Given the description of an element on the screen output the (x, y) to click on. 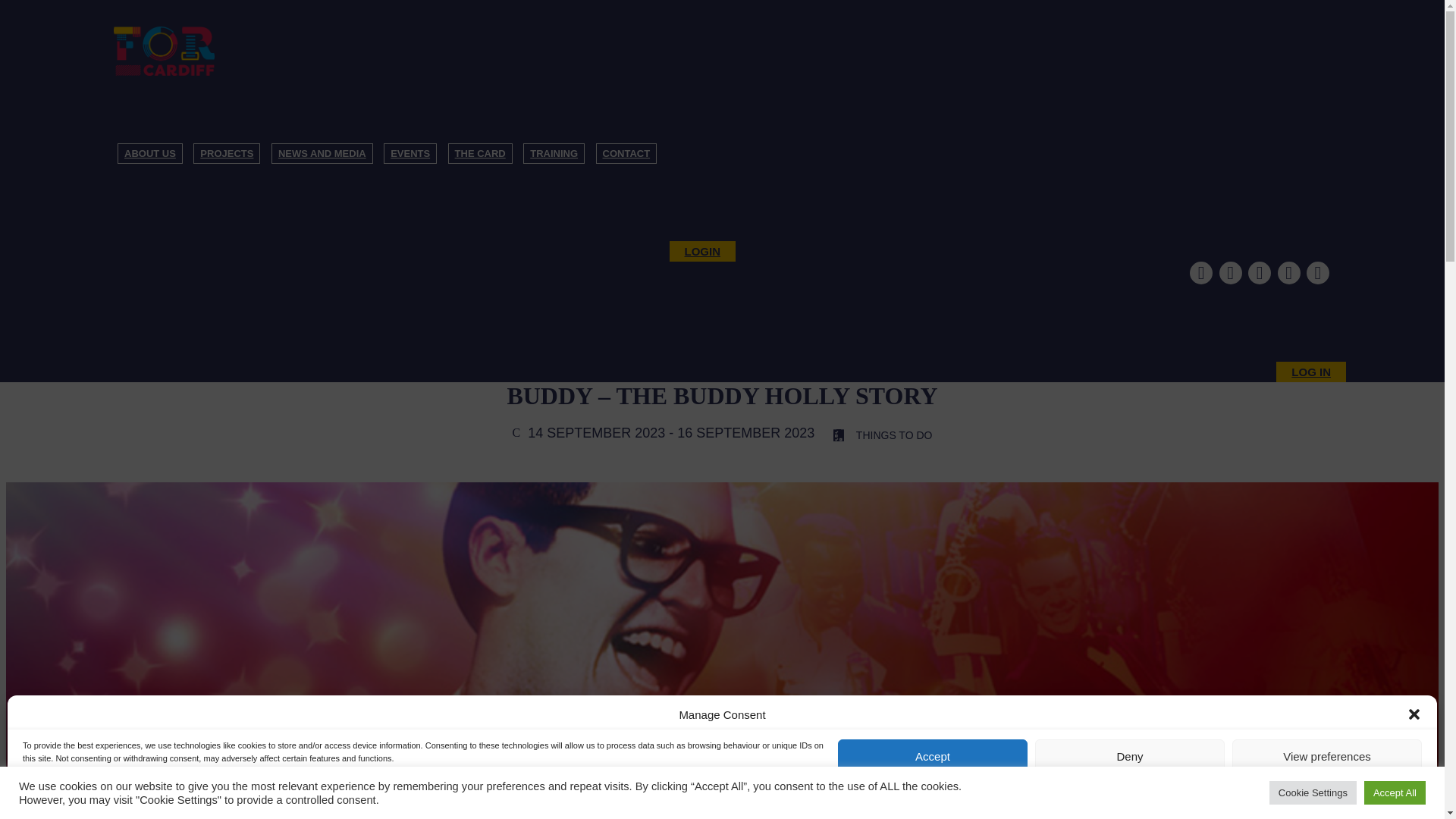
PROJECTS (226, 153)
FOR Cardiff PRIVACY POLICY (80, 795)
ABOUT US (150, 153)
LOGIN (701, 250)
TRAINING (553, 153)
Deny (1129, 756)
View preferences (1326, 756)
NEWS AND MEDIA (321, 153)
THE CARD (480, 153)
CONTACT (626, 153)
FOR Cardiff PRIVACY POLICY (202, 795)
Accept (932, 756)
EVENTS (410, 153)
